Given the description of an element on the screen output the (x, y) to click on. 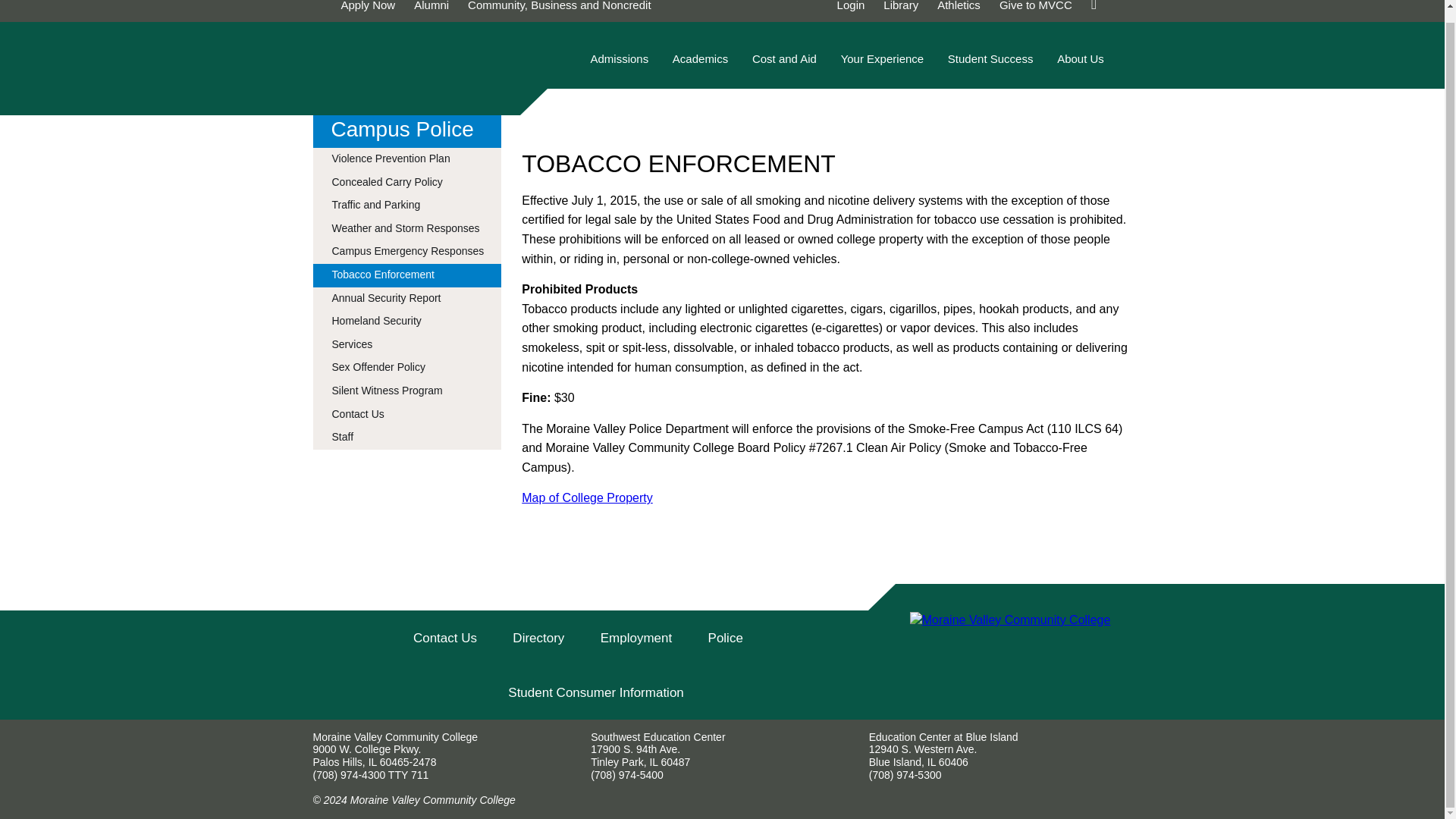
Alumni (430, 5)
Library (900, 5)
Admissions (619, 66)
Cost and Aid (783, 66)
Apply Now (368, 5)
Athletics (958, 5)
Community, Business and Noncredit (558, 5)
Give to MVCC (1034, 5)
Academics (699, 66)
Login (850, 5)
